Given the description of an element on the screen output the (x, y) to click on. 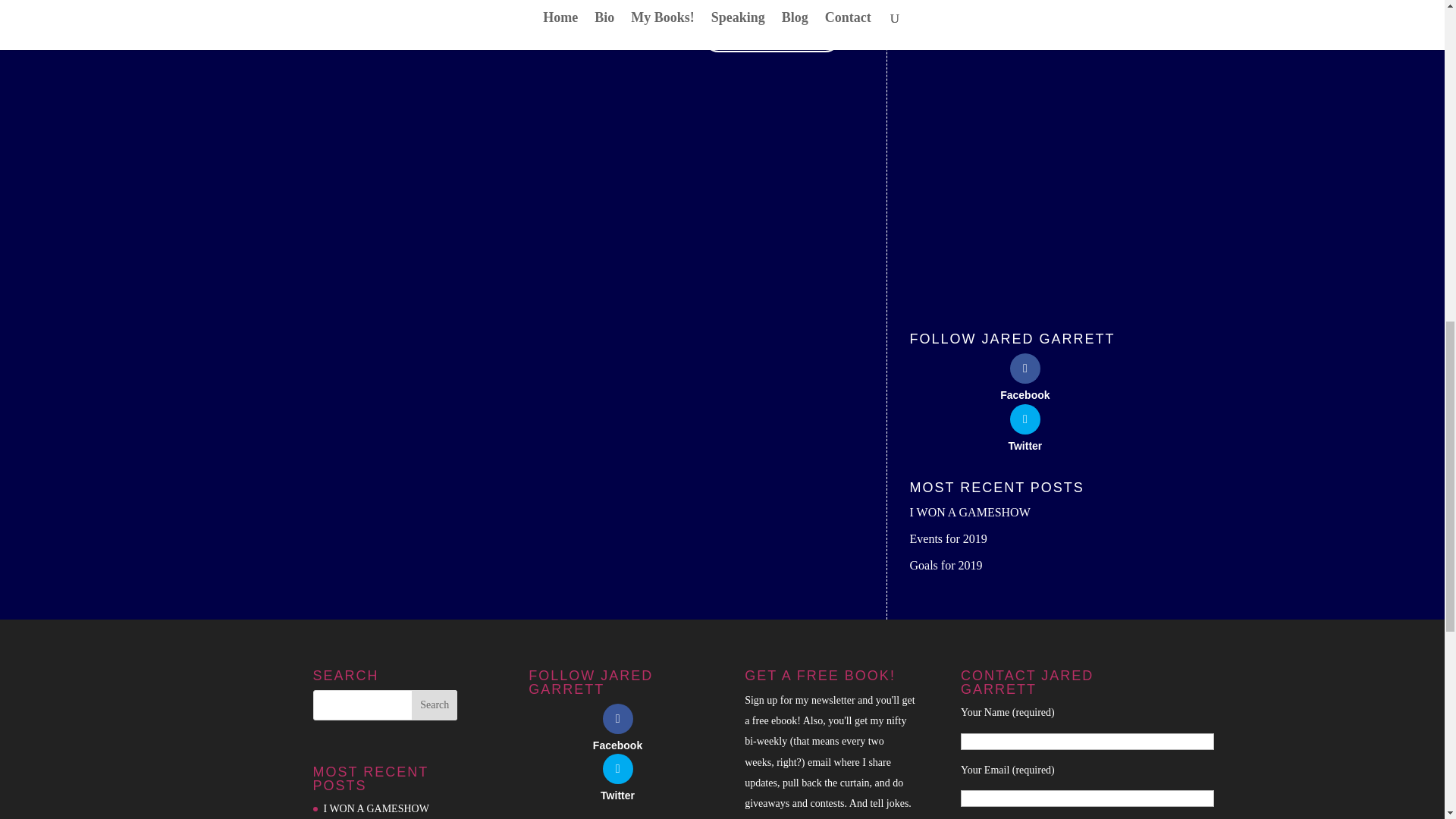
Facebook (1024, 376)
Submit Comment (772, 36)
Goals for 2019 (946, 564)
Twitter (1024, 427)
Search (434, 705)
Events for 2019 (948, 538)
I WON A GAMESHOW (970, 512)
Twitter (617, 776)
I WON A GAMESHOW (375, 808)
Facebook (617, 727)
Search (434, 705)
Submit Comment (772, 36)
